Given the description of an element on the screen output the (x, y) to click on. 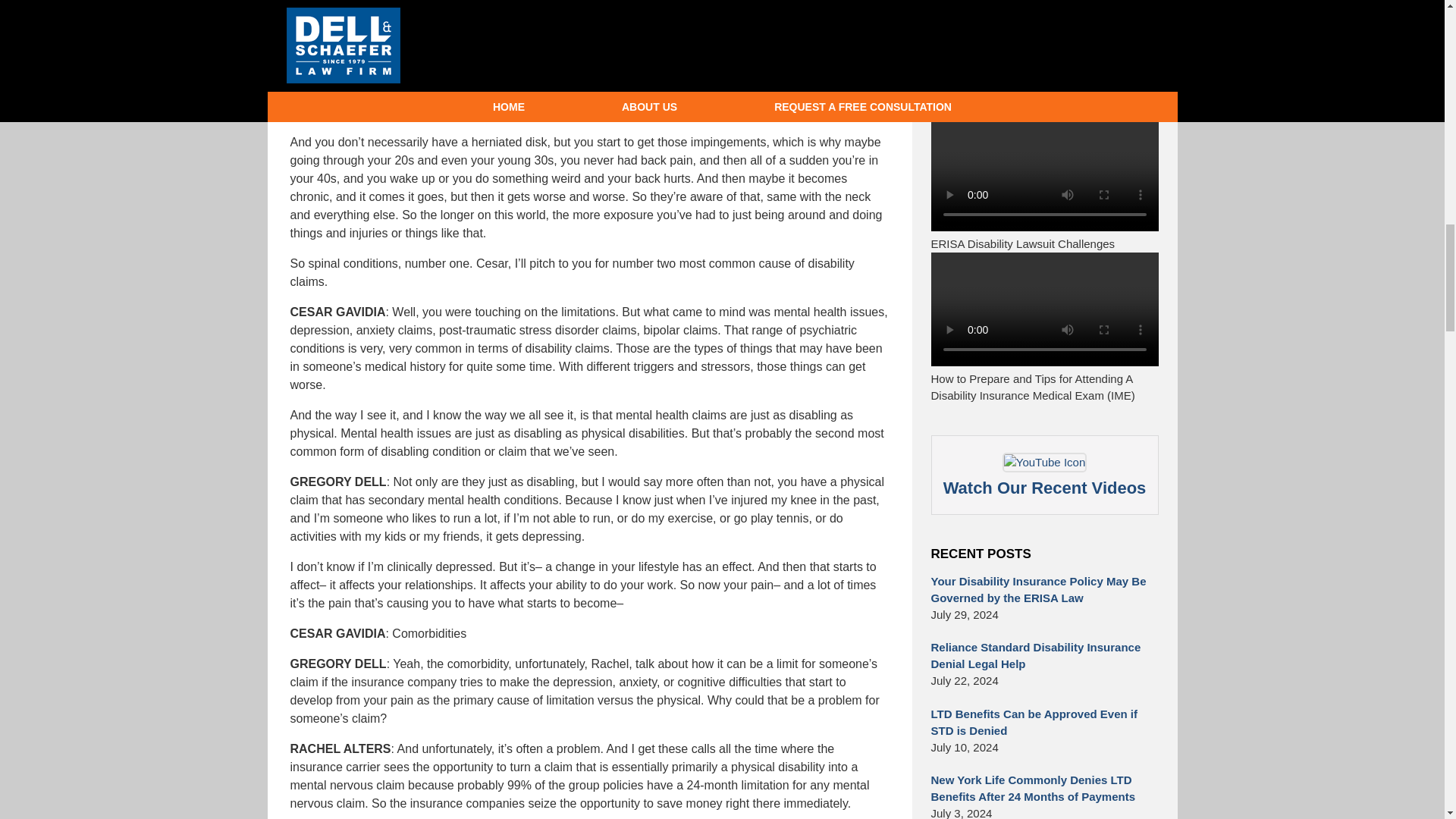
LTD Benefits Can be Approved Even if STD is Denied (1044, 722)
Watch Our Recent Videos (1045, 474)
Reliance Standard Disability Insurance Denial Legal Help (1044, 655)
YouTube (1045, 474)
